Given the description of an element on the screen output the (x, y) to click on. 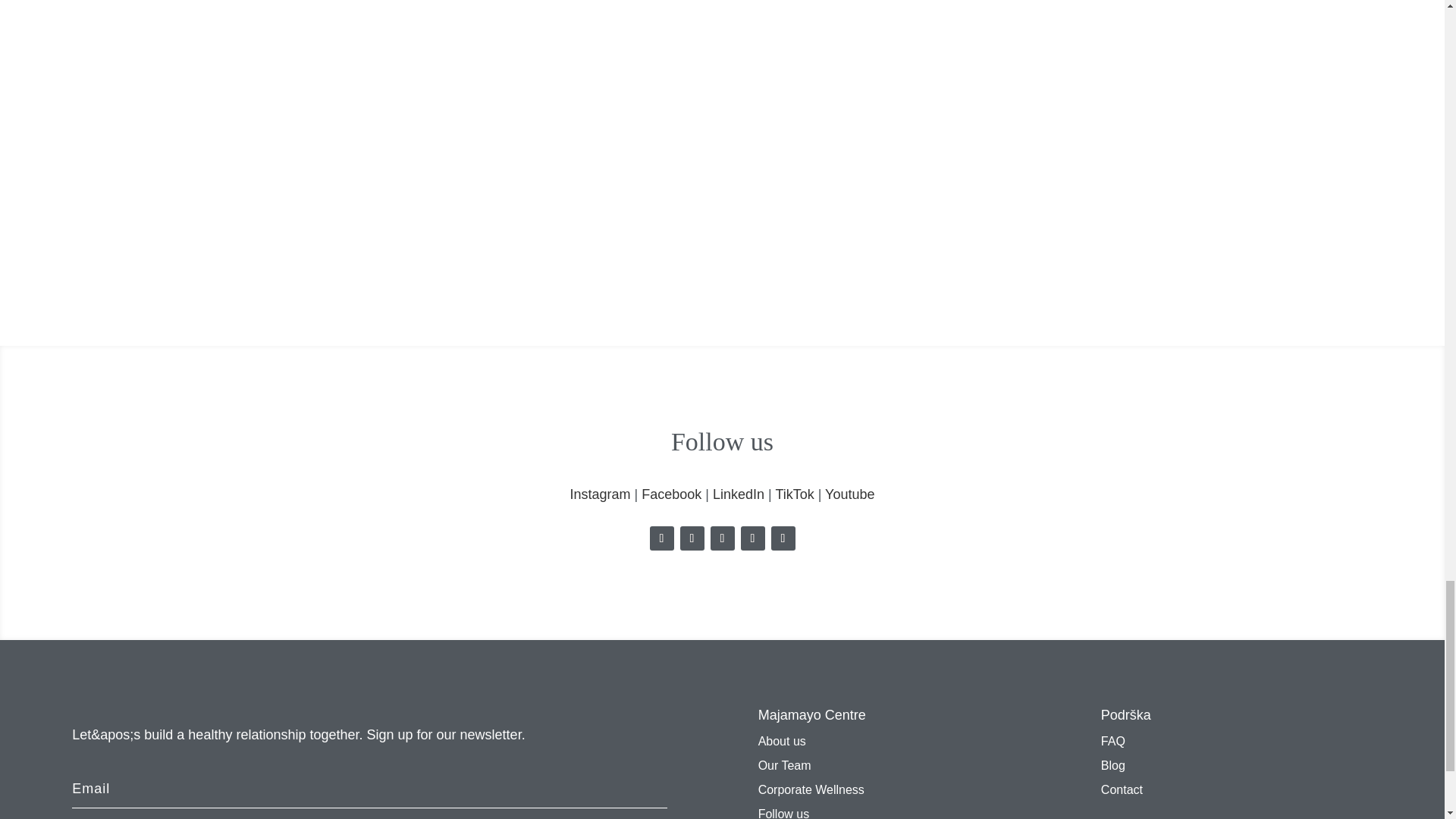
Follow on Youtube (782, 538)
Facebook (671, 494)
Follow on LinkedIn (721, 538)
Follow on Instagram (660, 538)
Follow on Facebook (691, 538)
TikTok (793, 494)
LinkedIn (738, 494)
Follow on TikTok (751, 538)
Instagram (599, 494)
Youtube (850, 494)
